Given the description of an element on the screen output the (x, y) to click on. 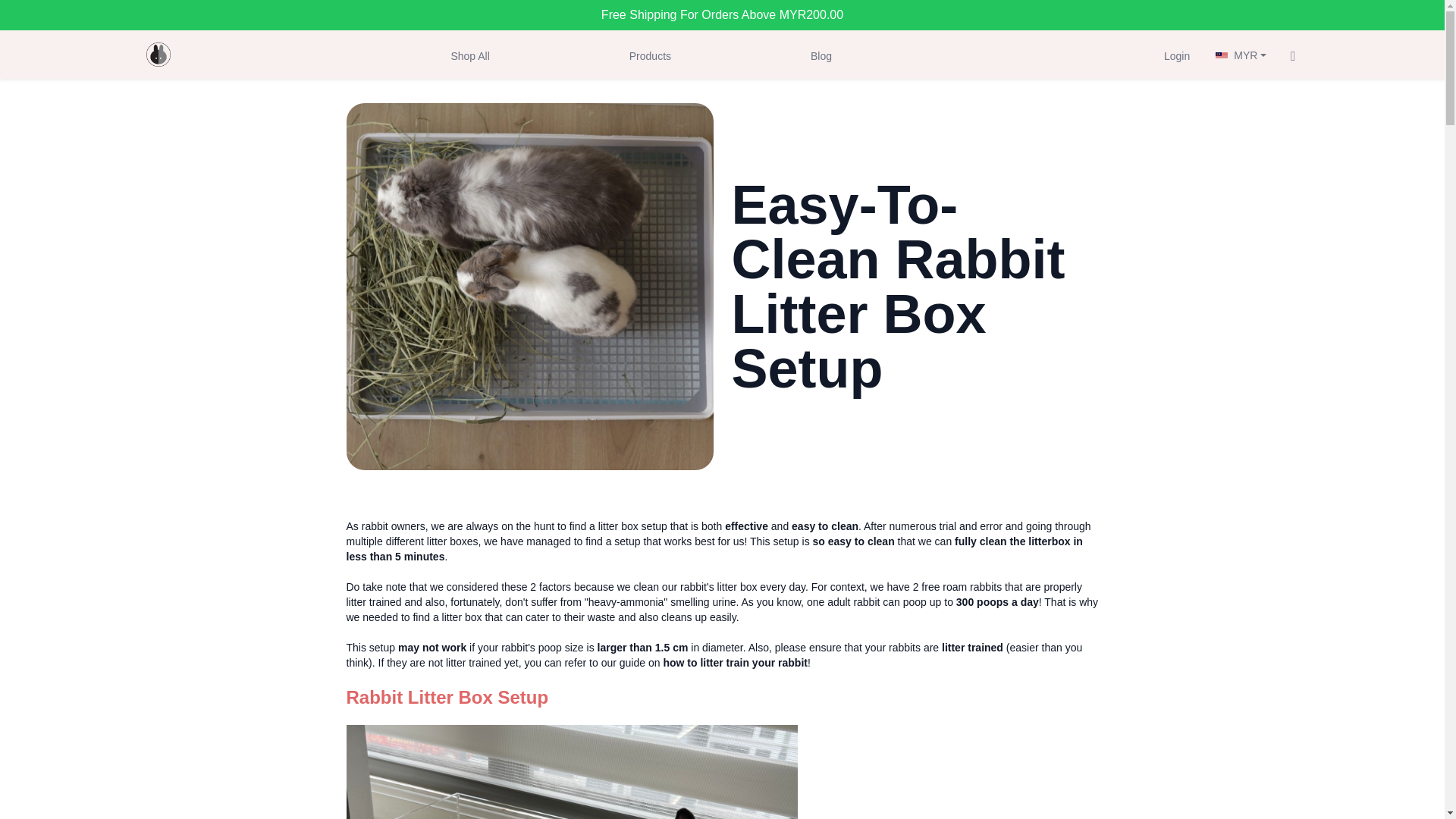
Shop All (469, 54)
Products (650, 54)
how to litter train your rabbit (735, 662)
MYR (1240, 54)
Blog (821, 54)
Login (1176, 54)
